Given the description of an element on the screen output the (x, y) to click on. 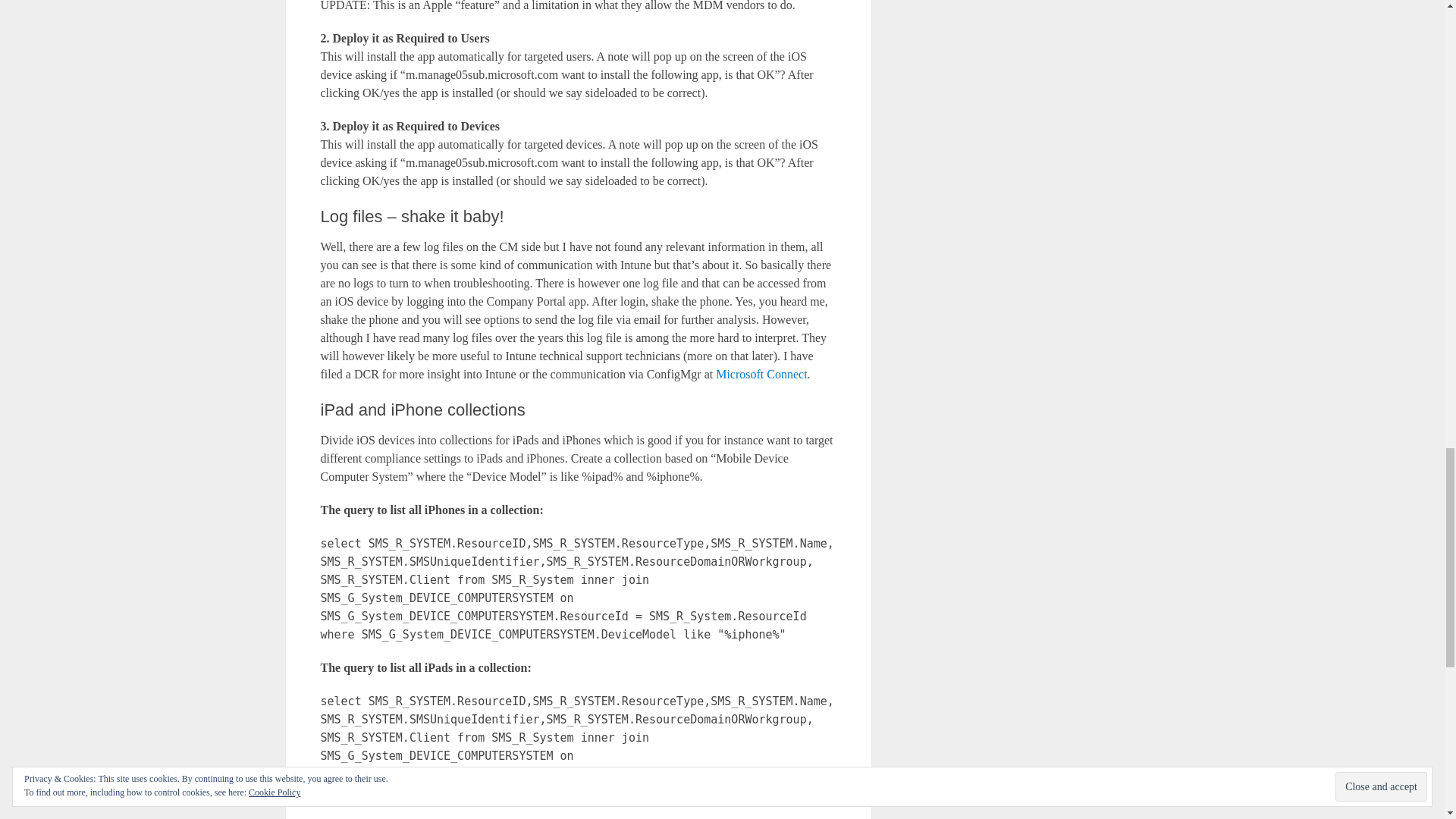
Microsoft Connect (761, 373)
